Given the description of an element on the screen output the (x, y) to click on. 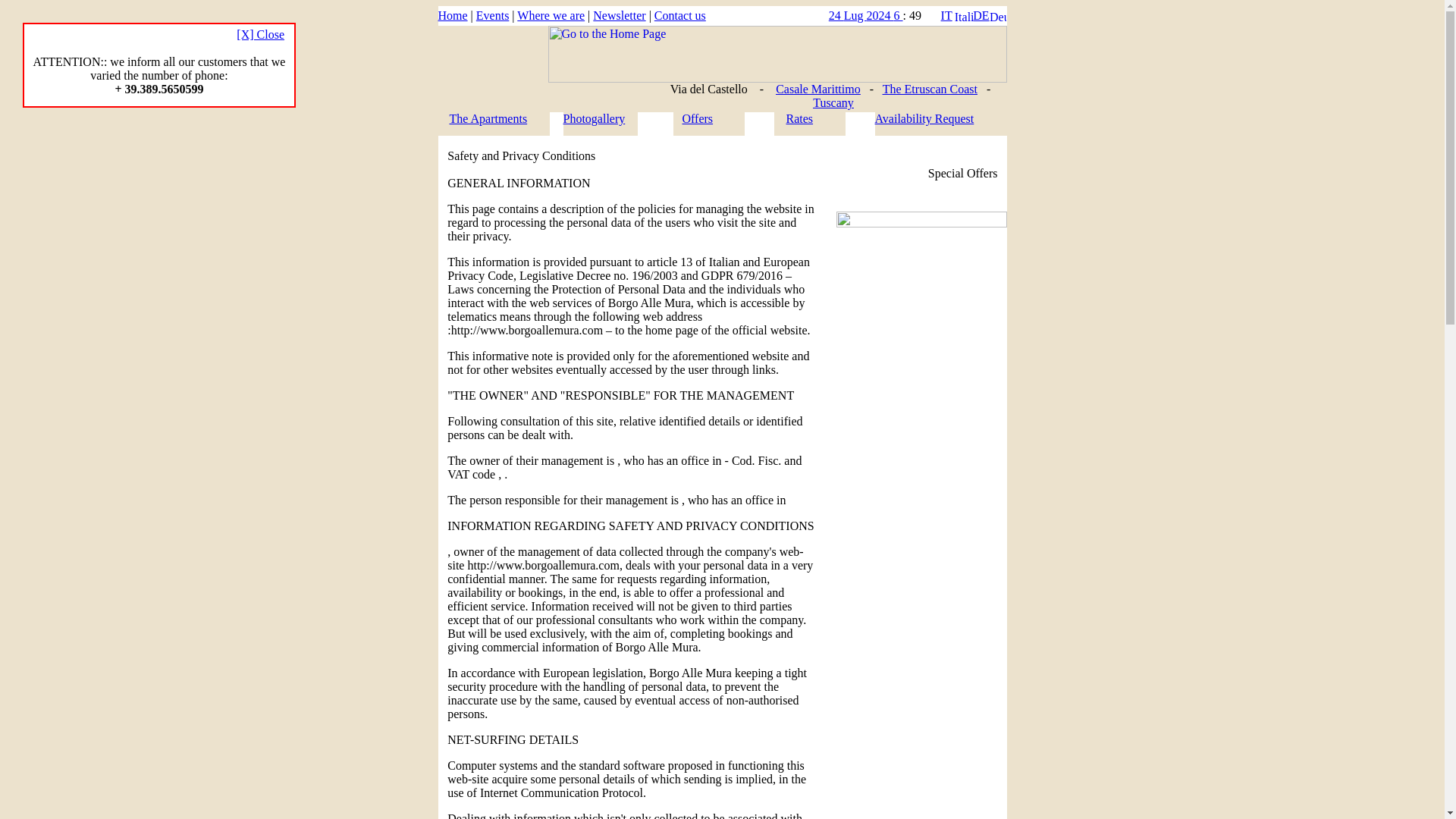
Casale Marittimo (818, 88)
24 (836, 15)
Availability Request (924, 118)
The Apartments (487, 118)
6 (897, 15)
Newsletter (618, 15)
Tuscany (832, 102)
2024 (879, 15)
Rates (799, 118)
Events (492, 15)
DE (980, 15)
Photogallery (593, 118)
The Etruscan Coast (929, 88)
Where we are (550, 15)
Home (452, 15)
